Given the description of an element on the screen output the (x, y) to click on. 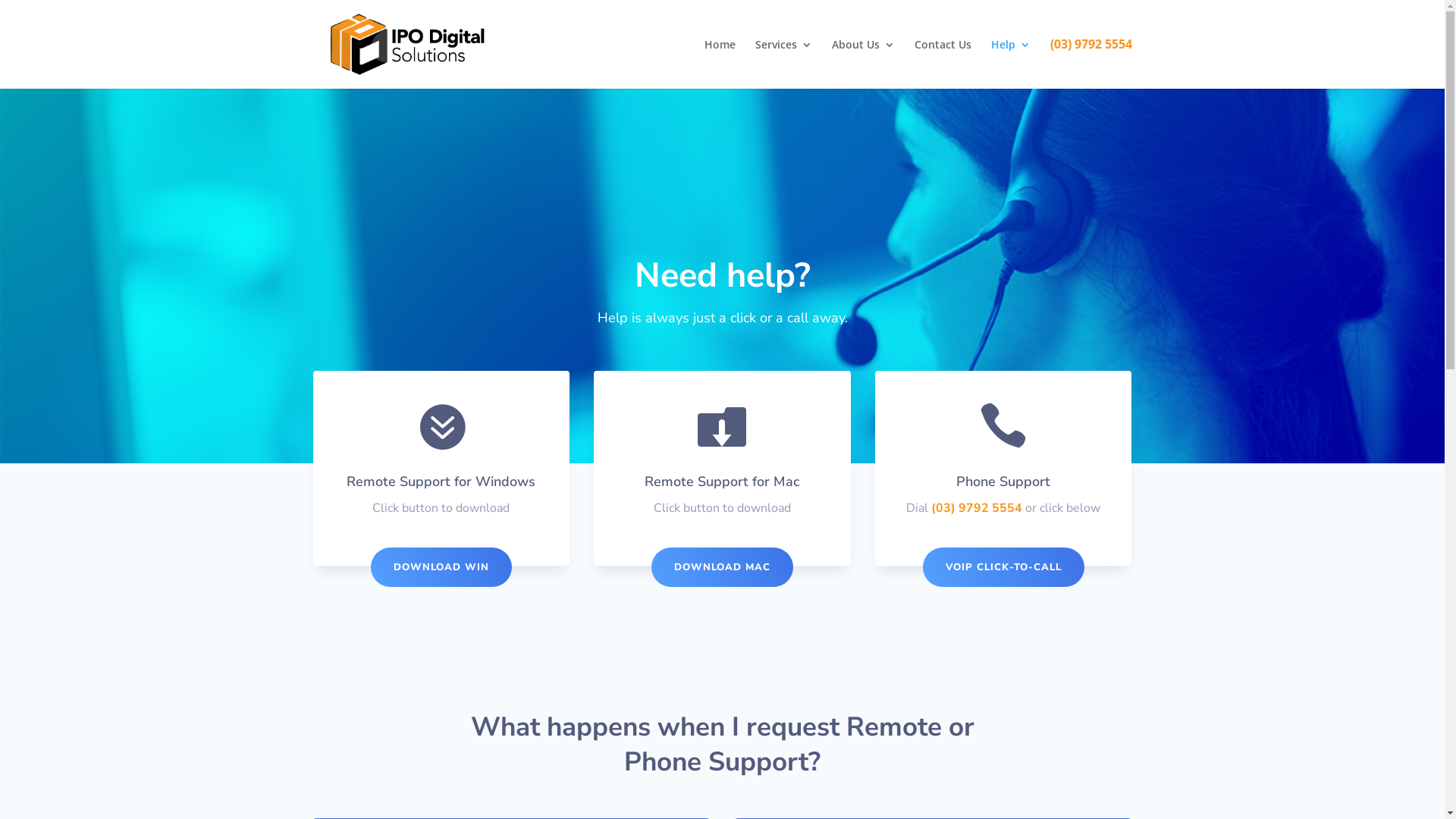
VOIP CLICK-TO-CALL Element type: text (1003, 566)
DOWNLOAD MAC Element type: text (722, 566)
Contact Us Element type: text (942, 63)
Home Element type: text (718, 63)
(03) 9792 5554 Element type: text (1090, 62)
Services Element type: text (783, 63)
Help Element type: text (1009, 63)
DOWNLOAD WIN Element type: text (440, 566)
About Us Element type: text (862, 63)
